Given the description of an element on the screen output the (x, y) to click on. 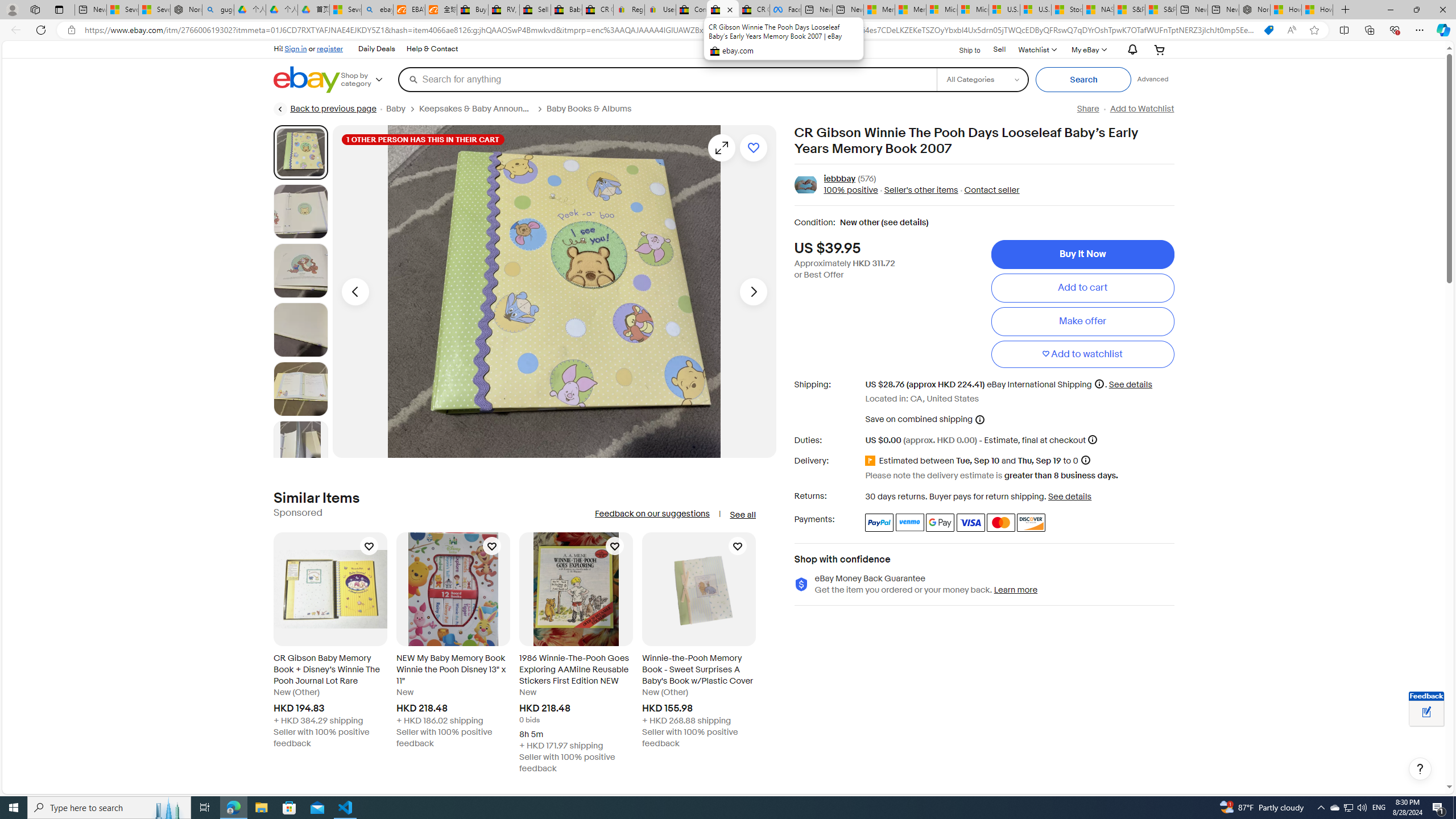
AutomationID: gh-eb-Alerts (1131, 49)
Previous image - Item images thumbnails (354, 291)
Notifications (1129, 49)
register (329, 48)
PayPal (878, 521)
More information (1092, 439)
See details - for more information about returns (1070, 496)
Expand Cart (1159, 49)
Help & Contact (431, 49)
Personal Profile (12, 9)
Tab actions menu (58, 9)
